Given the description of an element on the screen output the (x, y) to click on. 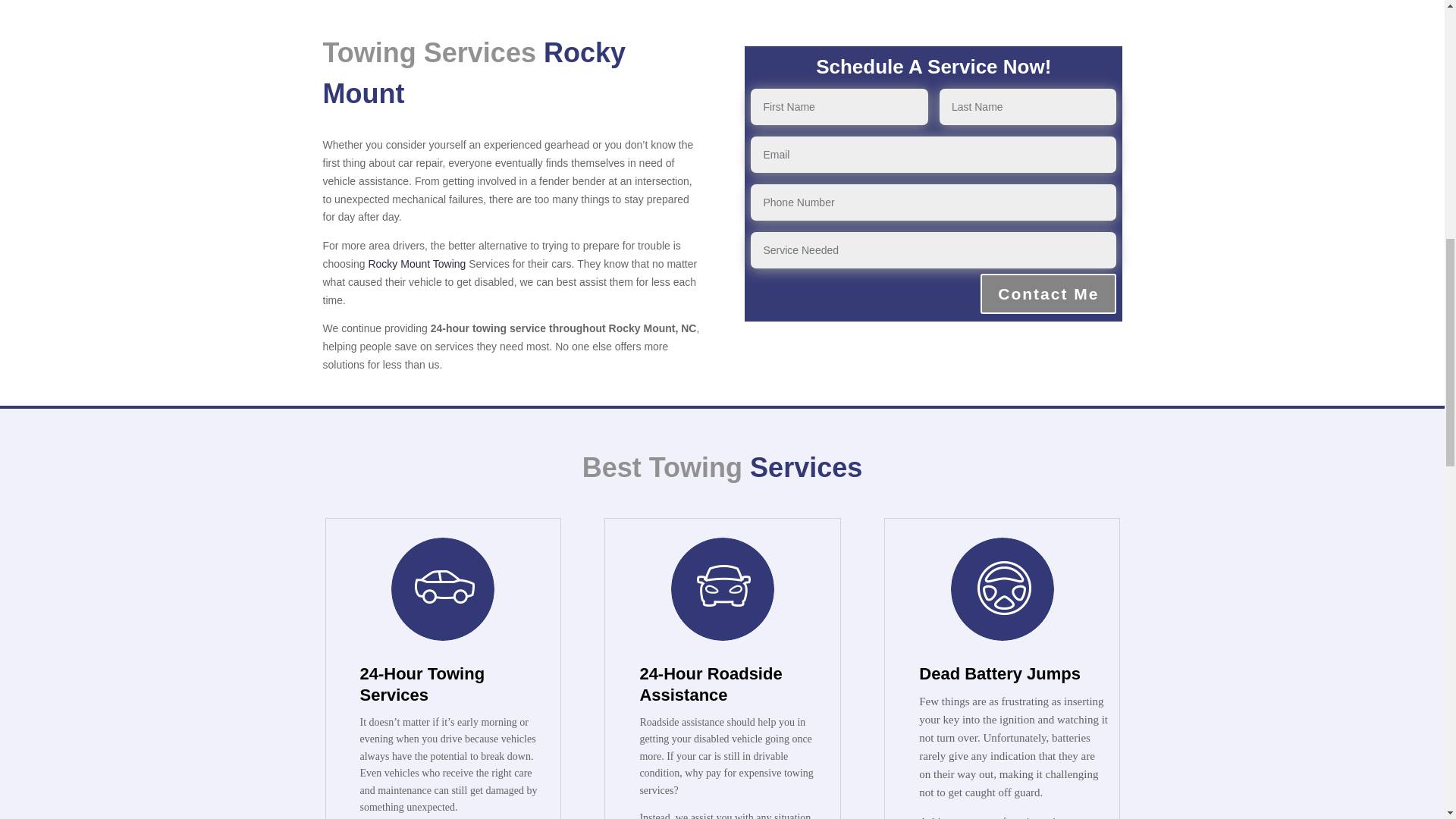
Rocky Mount Towing (416, 263)
Contact Me (1047, 292)
